Given the description of an element on the screen output the (x, y) to click on. 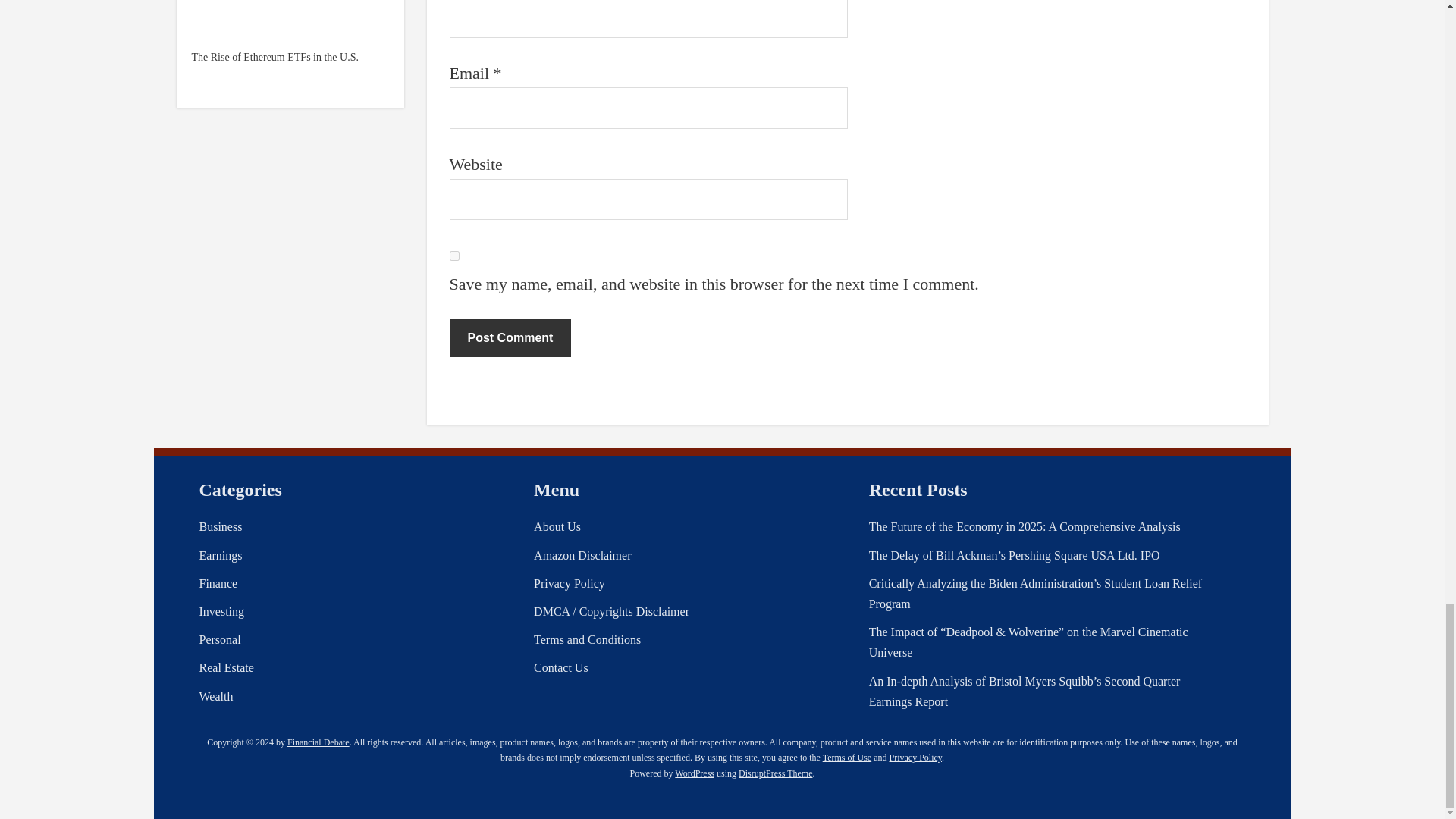
yes (453, 255)
Post Comment (509, 338)
